Given the description of an element on the screen output the (x, y) to click on. 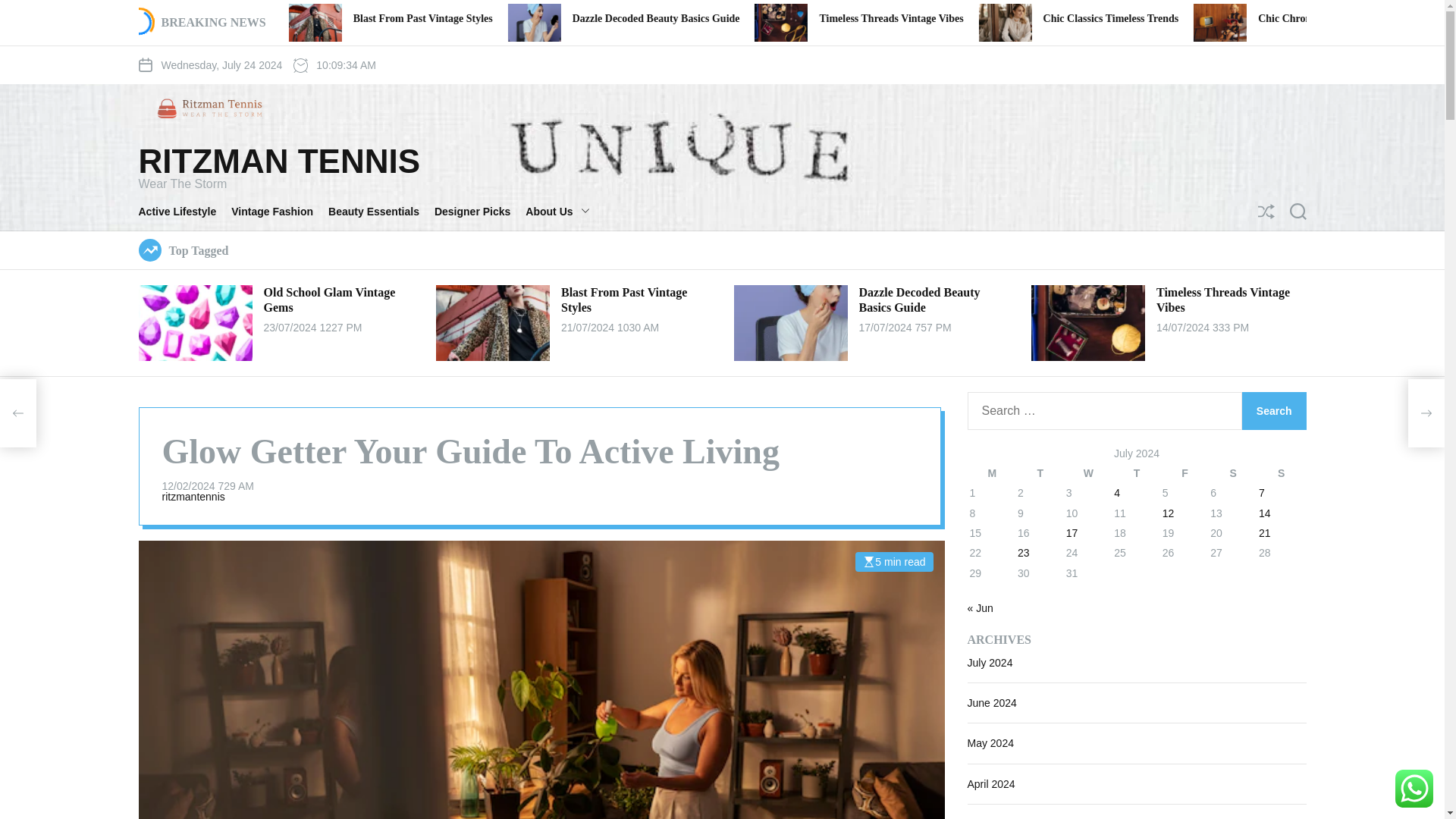
Chic Classics Timeless Trends (1322, 18)
Timeless Threads Vintage Vibes (954, 22)
Chic Classics Timeless Trends (1176, 22)
Dazzle Decoded Beauty Basics Guide (868, 18)
Search (1273, 410)
Search (1273, 410)
Old School Glam Vintage Gems (272, 22)
Timeless Threads Vintage Vibes (1102, 18)
RITZMAN TENNIS (279, 161)
Dazzle Decoded Beauty Basics Guide (709, 22)
Blast From Past Vintage Styles (493, 22)
Blast From Past Vintage Styles (634, 18)
Old School Glam Vintage Gems (414, 18)
